Given the description of an element on the screen output the (x, y) to click on. 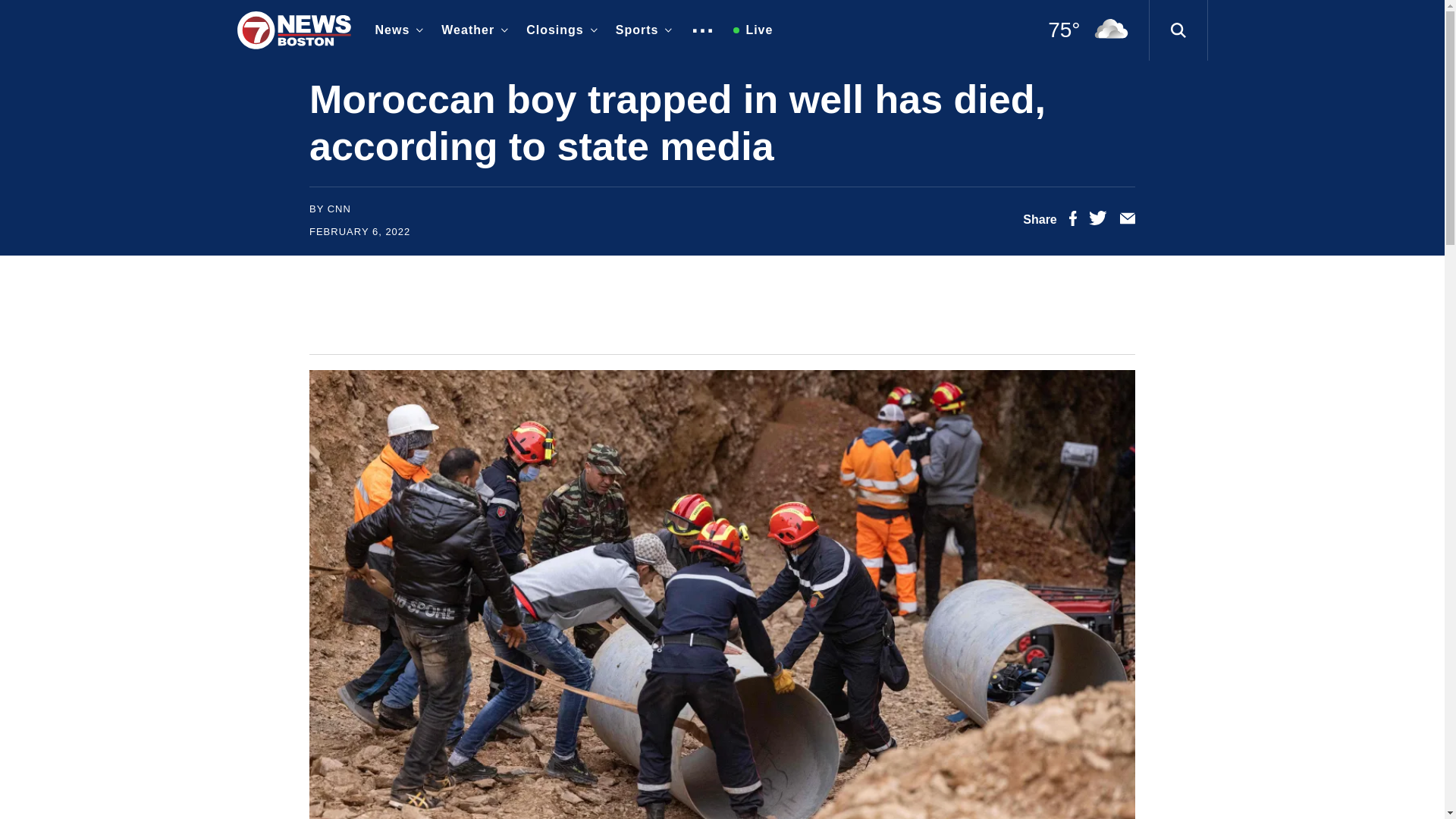
Weather (471, 30)
February 6, 2022 (359, 231)
Email (1127, 221)
Sports (641, 30)
News (395, 30)
Closings (558, 30)
Twitter (1098, 221)
Posts by CNN (338, 208)
